Given the description of an element on the screen output the (x, y) to click on. 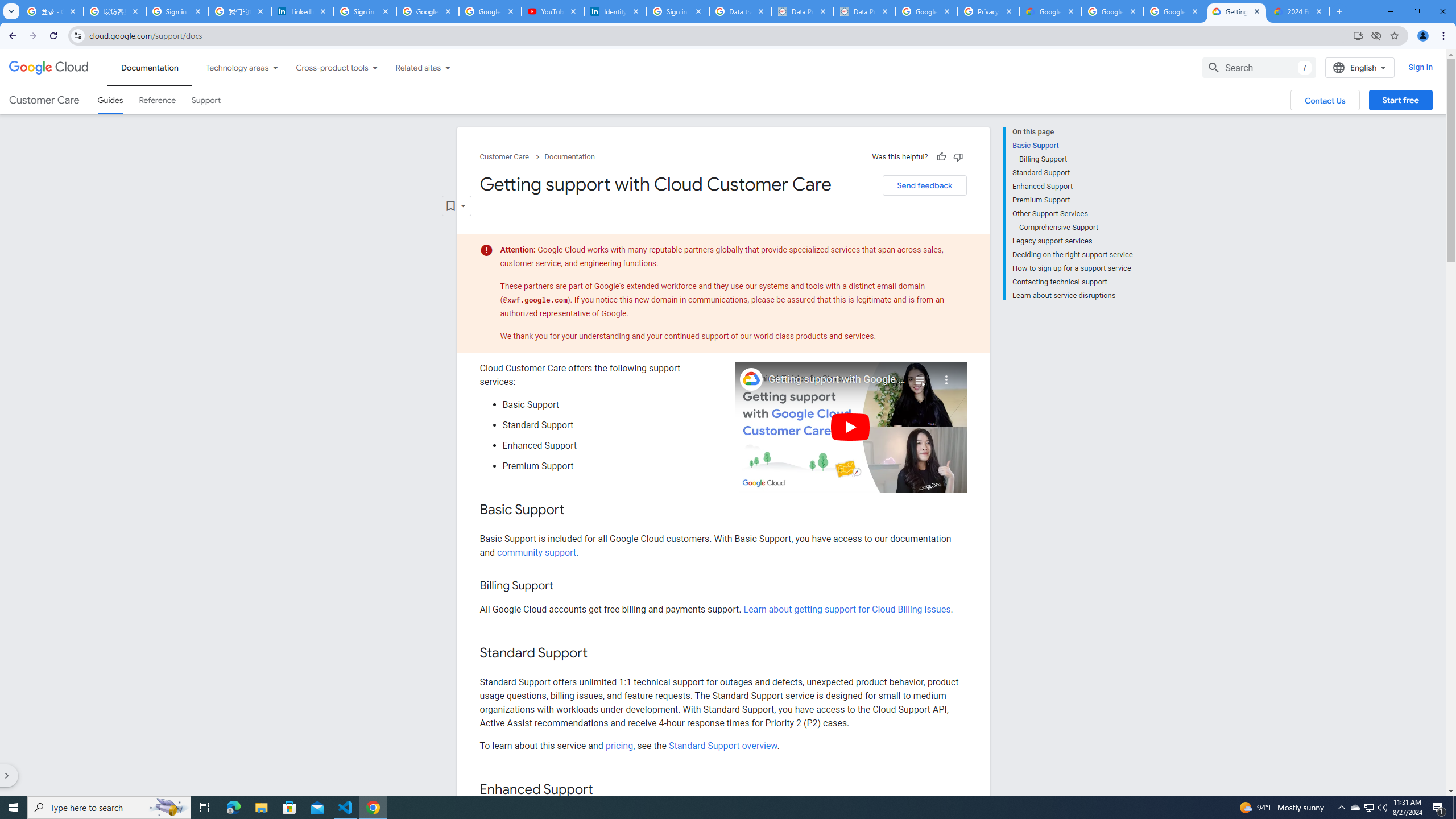
Reference (157, 99)
Open dropdown (456, 205)
Other Support Services (1071, 213)
Install Google Cloud (1358, 35)
Documentation (569, 156)
English (1359, 67)
Send feedback (924, 185)
Google Workspace - Specific Terms (1111, 11)
